Given the description of an element on the screen output the (x, y) to click on. 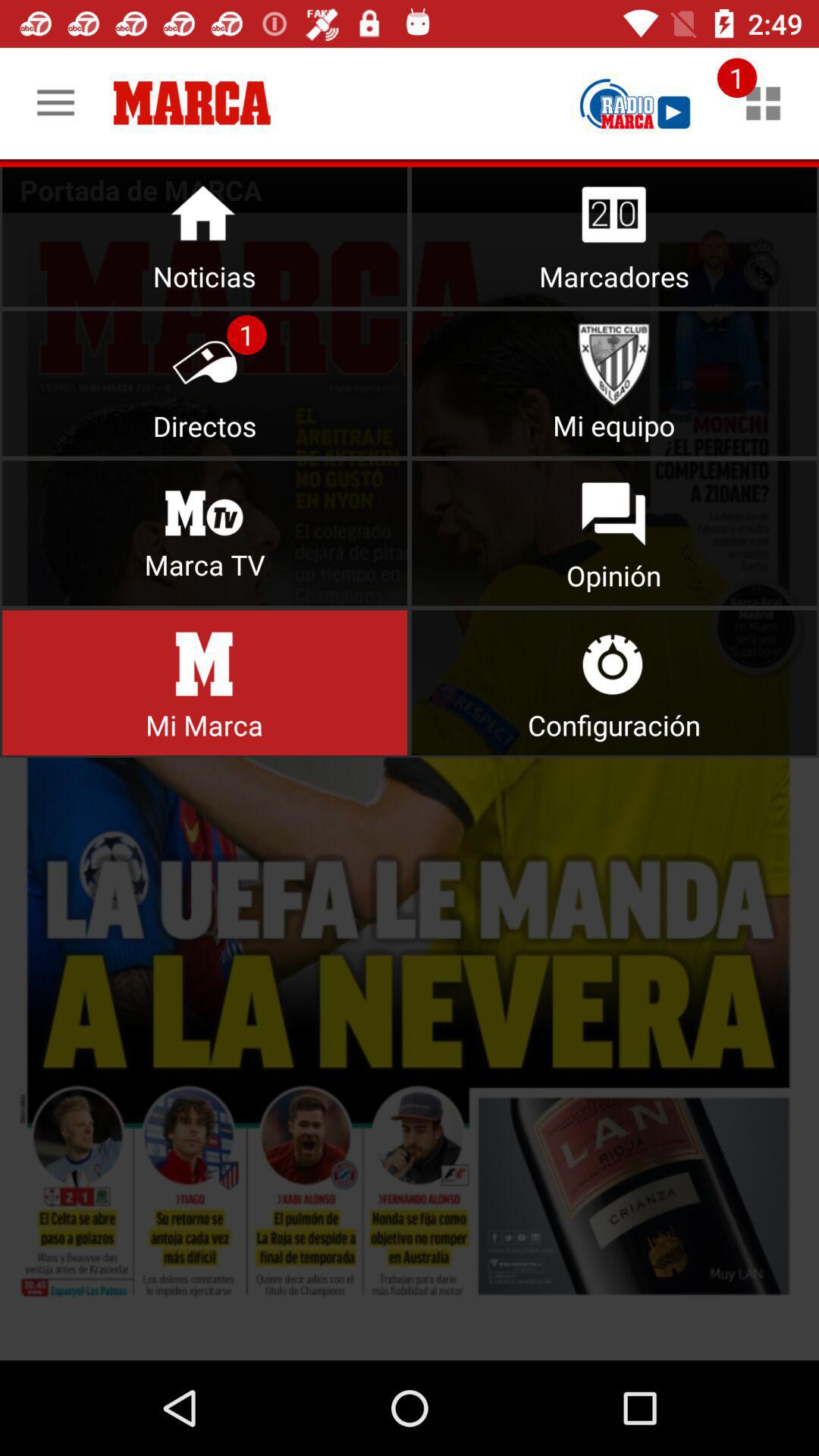
button on navigation bar to go to directory (204, 383)
